Given the description of an element on the screen output the (x, y) to click on. 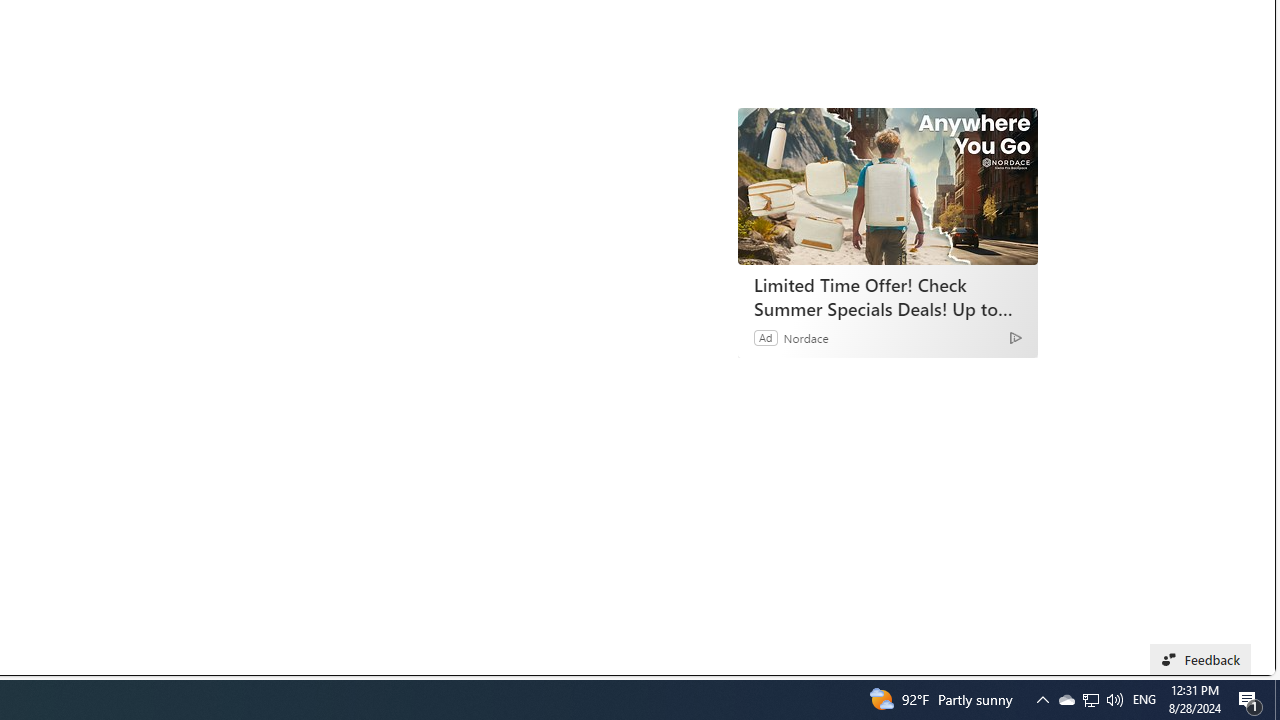
Limited Time Offer! Check Summer Specials Deals! Up to -55%! (888, 186)
Ad Choice (1015, 336)
Limited Time Offer! Check Summer Specials Deals! Up to -55%! (887, 296)
Feedback (1199, 659)
Ad (766, 337)
